Given the description of an element on the screen output the (x, y) to click on. 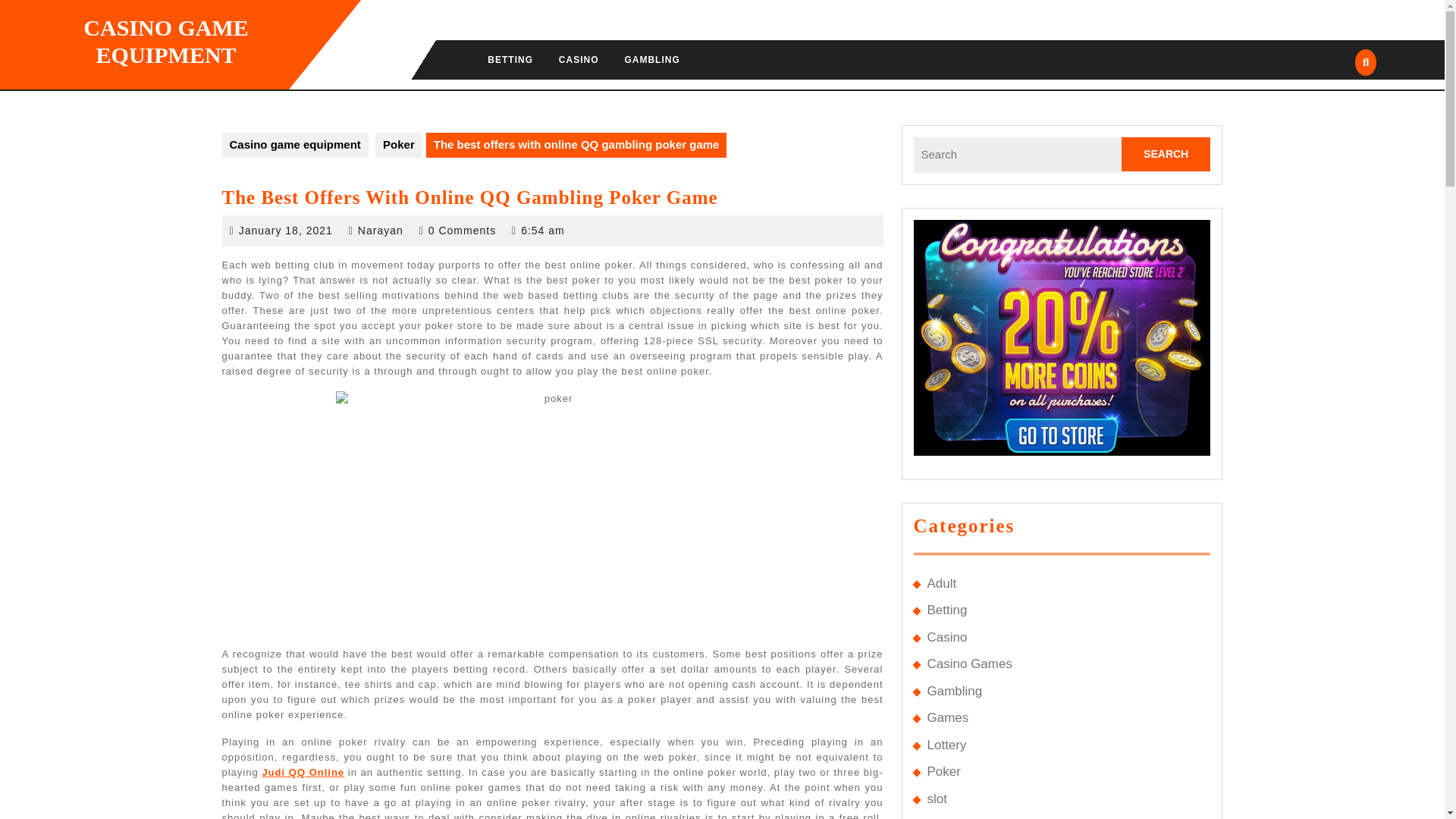
Gambling (953, 690)
Lottery (946, 744)
Judi QQ Online (302, 772)
Casino Games (968, 663)
Casino game equipment (294, 145)
Poker (398, 145)
Casino (946, 636)
Games (947, 717)
Narayan (380, 230)
